Given the description of an element on the screen output the (x, y) to click on. 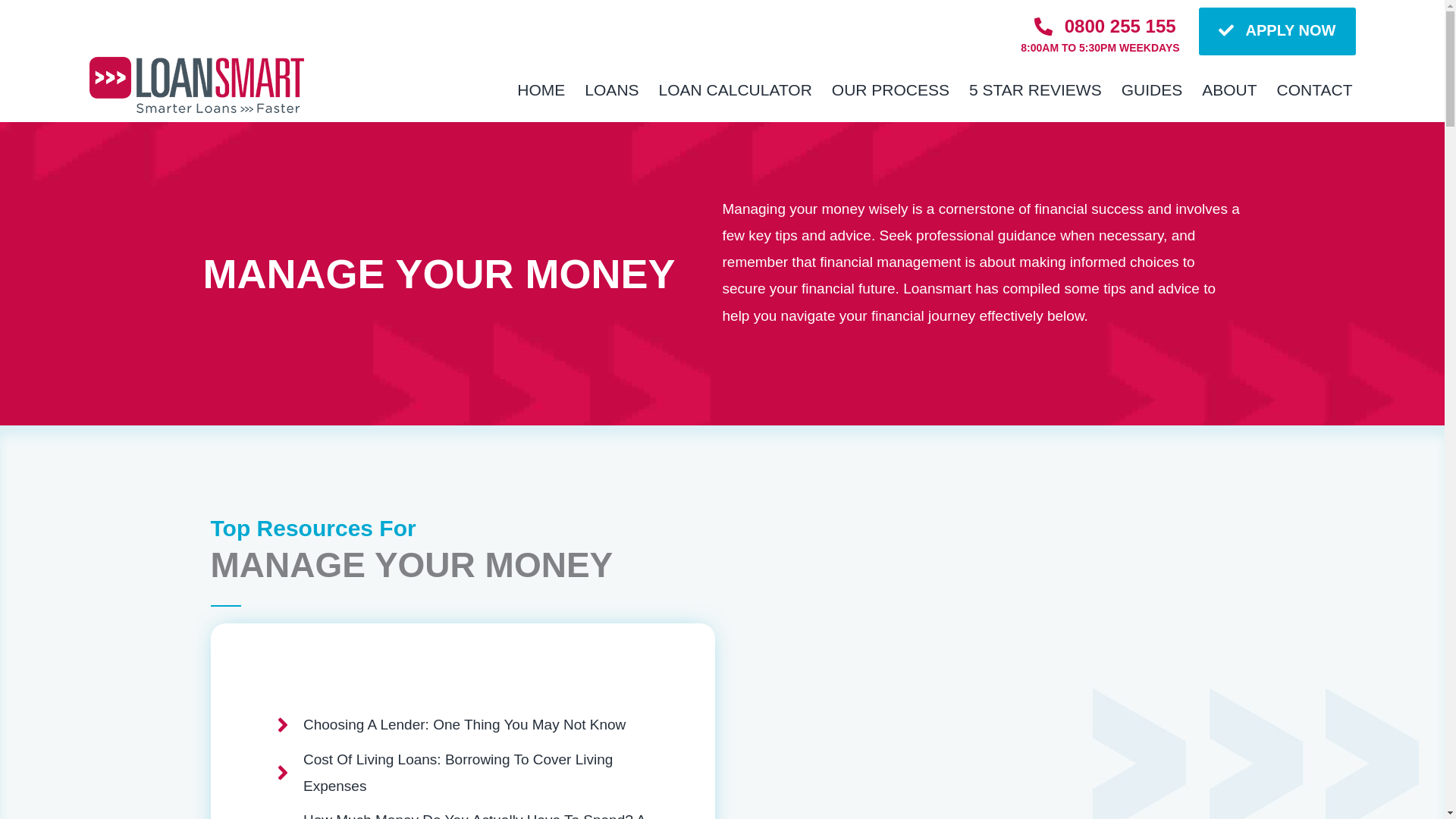
LOANS (611, 90)
APPLY NOW (1276, 31)
5 STAR REVIEWS (1035, 90)
LOAN CALCULATOR (735, 90)
GUIDES (1152, 90)
OUR PROCESS (890, 90)
ABOUT (1228, 90)
0800 255 155 (1105, 27)
